Given the description of an element on the screen output the (x, y) to click on. 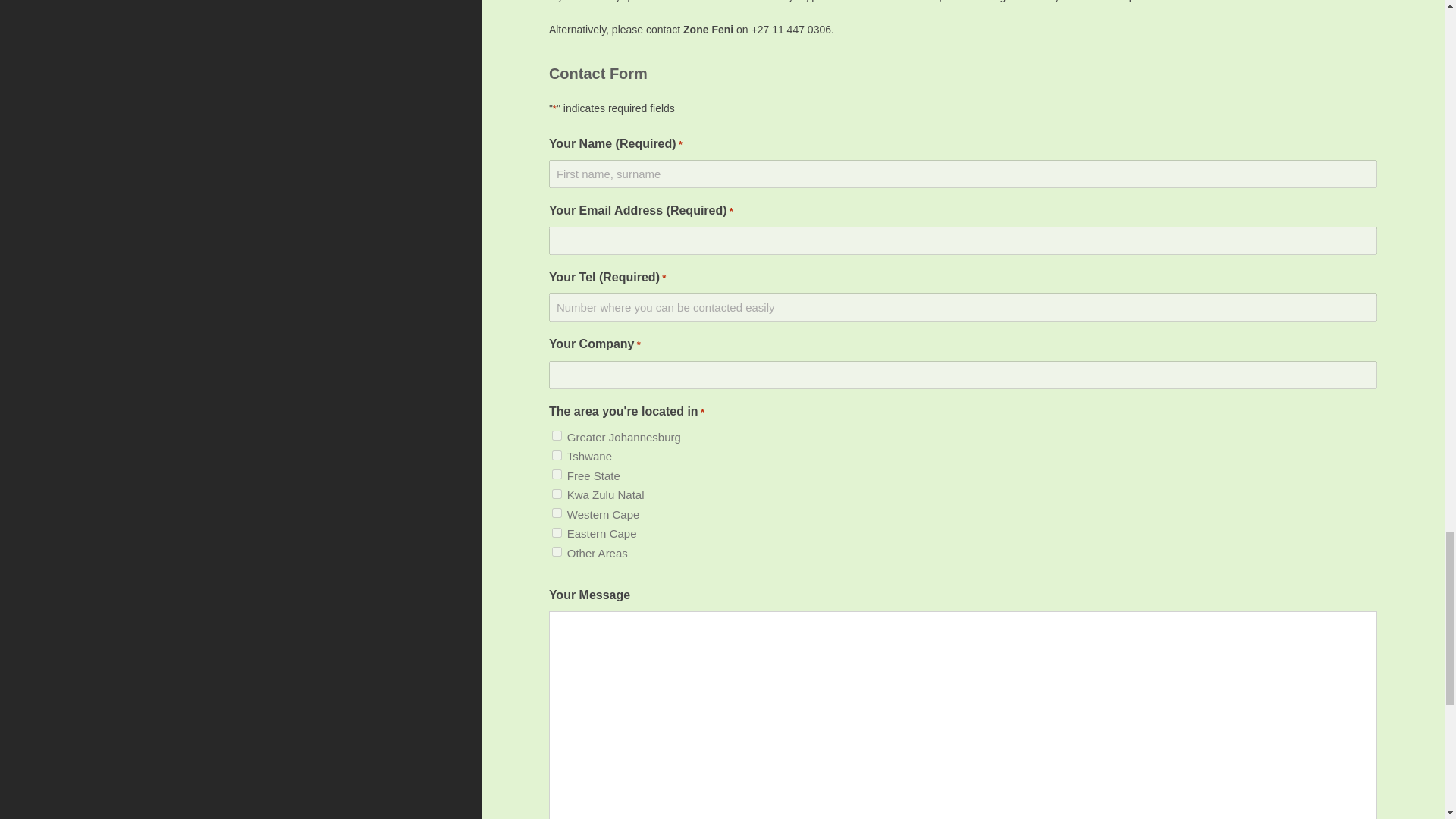
Tshwane (556, 455)
Other Areas (556, 551)
Western Cape (556, 512)
Free State (556, 474)
Kwa Zulu Natal (556, 493)
Eastern Cape (556, 532)
Greater Johannesburg (556, 435)
